Given the description of an element on the screen output the (x, y) to click on. 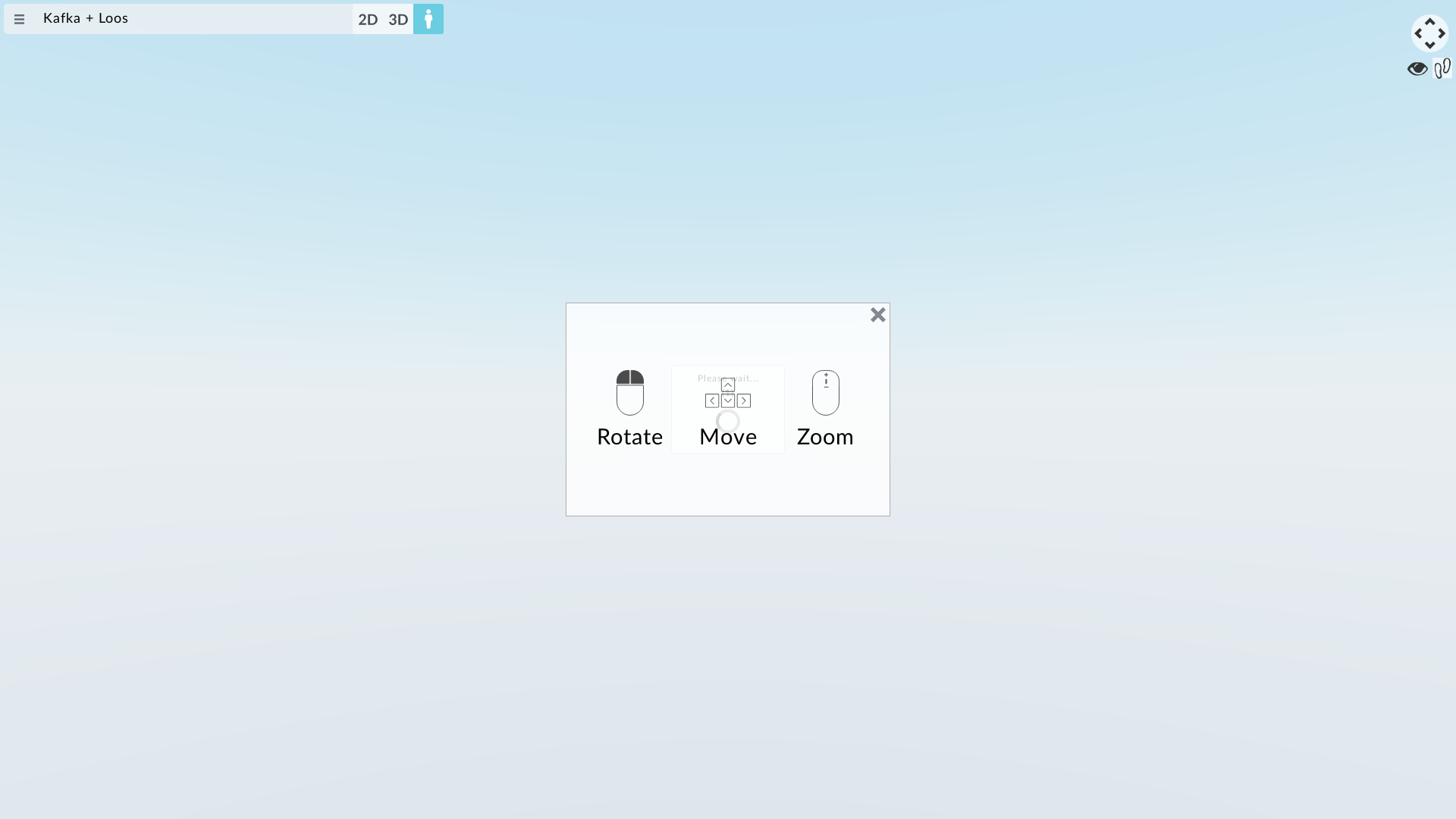
bird view Element type: hover (397, 18)
first person Element type: hover (428, 18)
plan 2d Element type: hover (367, 18)
